Given the description of an element on the screen output the (x, y) to click on. 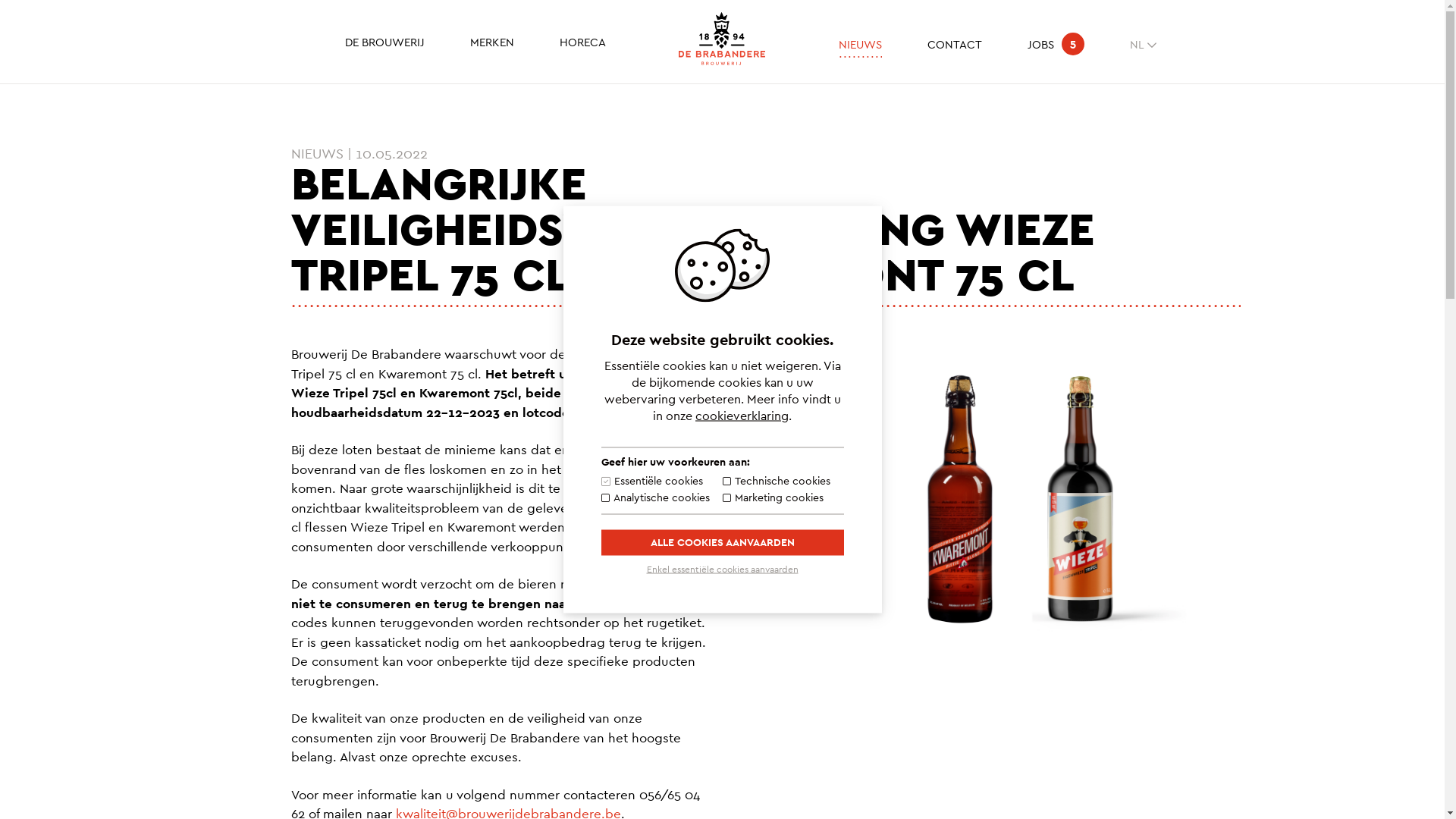
ALLE COOKIES AANVAARDEN Element type: text (721, 542)
Kwaremont 75 cl   Wieze 75 cl Element type: hover (1028, 498)
cookieverklaring Element type: text (741, 415)
DE BROUWERIJ Element type: text (384, 43)
JOBS
5 Element type: text (1055, 45)
Terug naar hoofdpagina Element type: hover (721, 38)
HORECA Element type: text (582, 43)
MERKEN Element type: text (492, 43)
CONTACT Element type: text (954, 45)
NIEUWS Element type: text (859, 45)
